Given the description of an element on the screen output the (x, y) to click on. 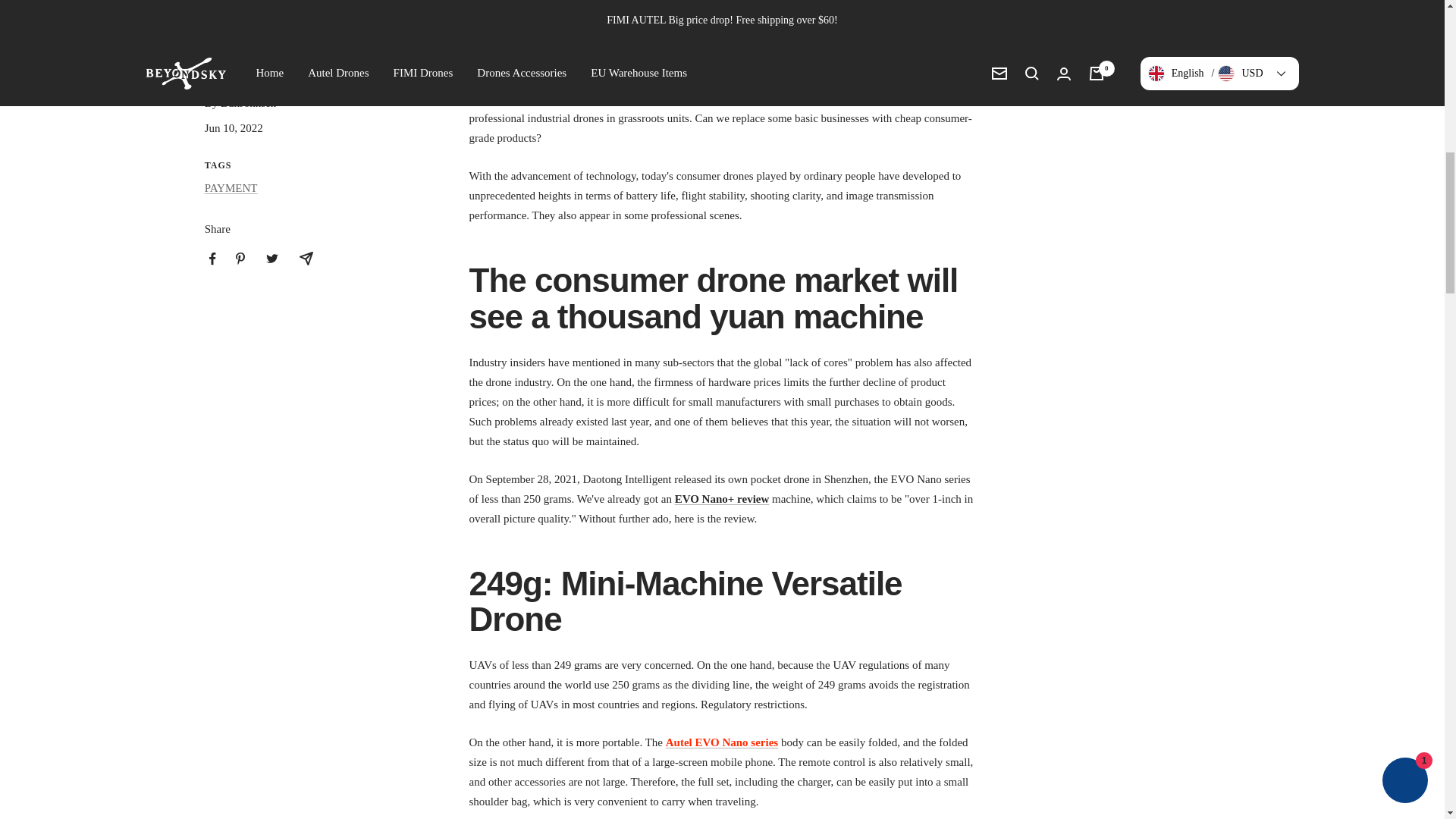
autel evo nano drone (721, 742)
Autel EVO Nano series (721, 742)
PAYMENT (231, 187)
